Given the description of an element on the screen output the (x, y) to click on. 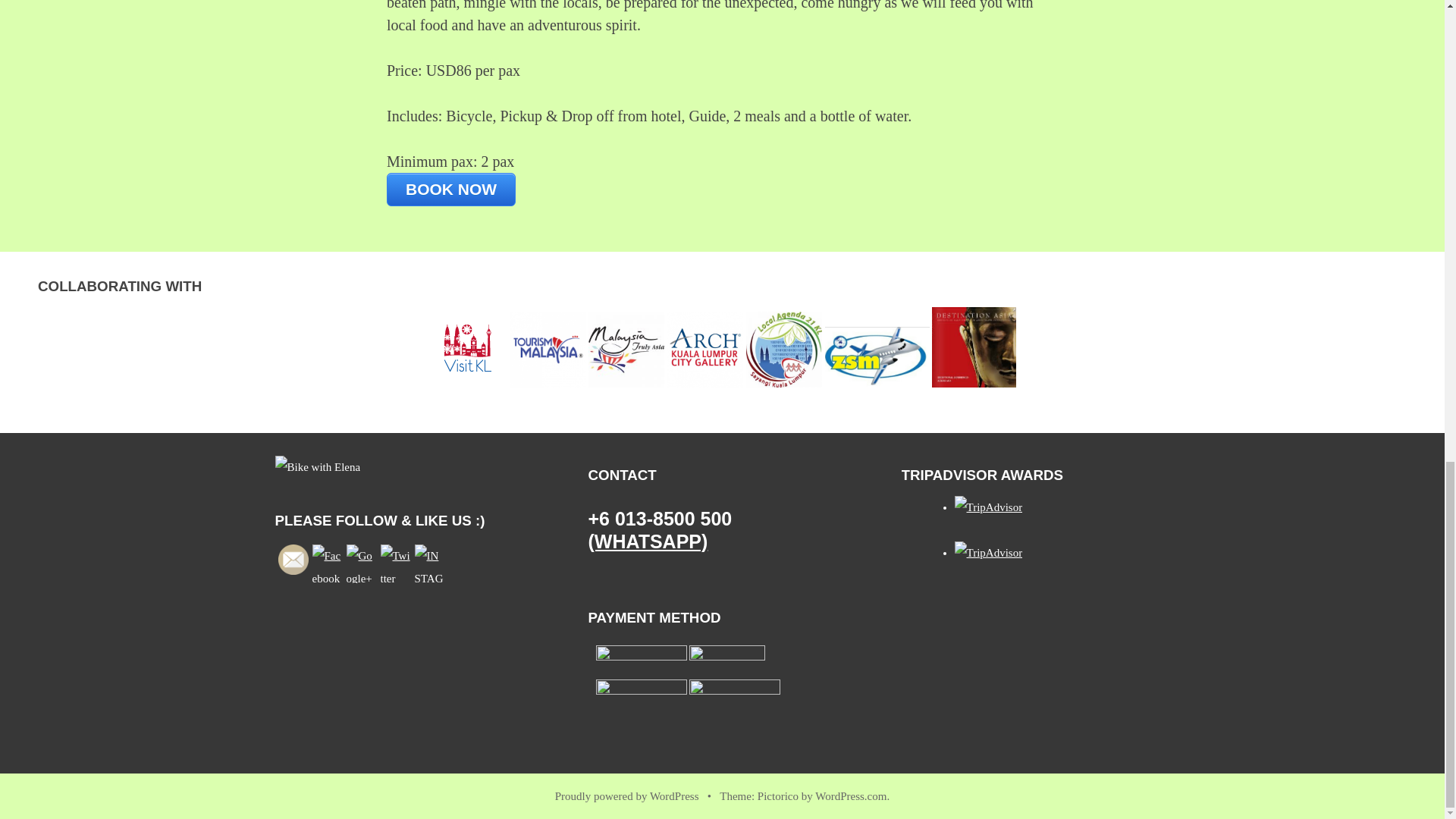
BOOK NOW (451, 189)
Proudly powered by WordPress (626, 796)
WordPress.com (850, 796)
Follow by Email (292, 559)
